Given the description of an element on the screen output the (x, y) to click on. 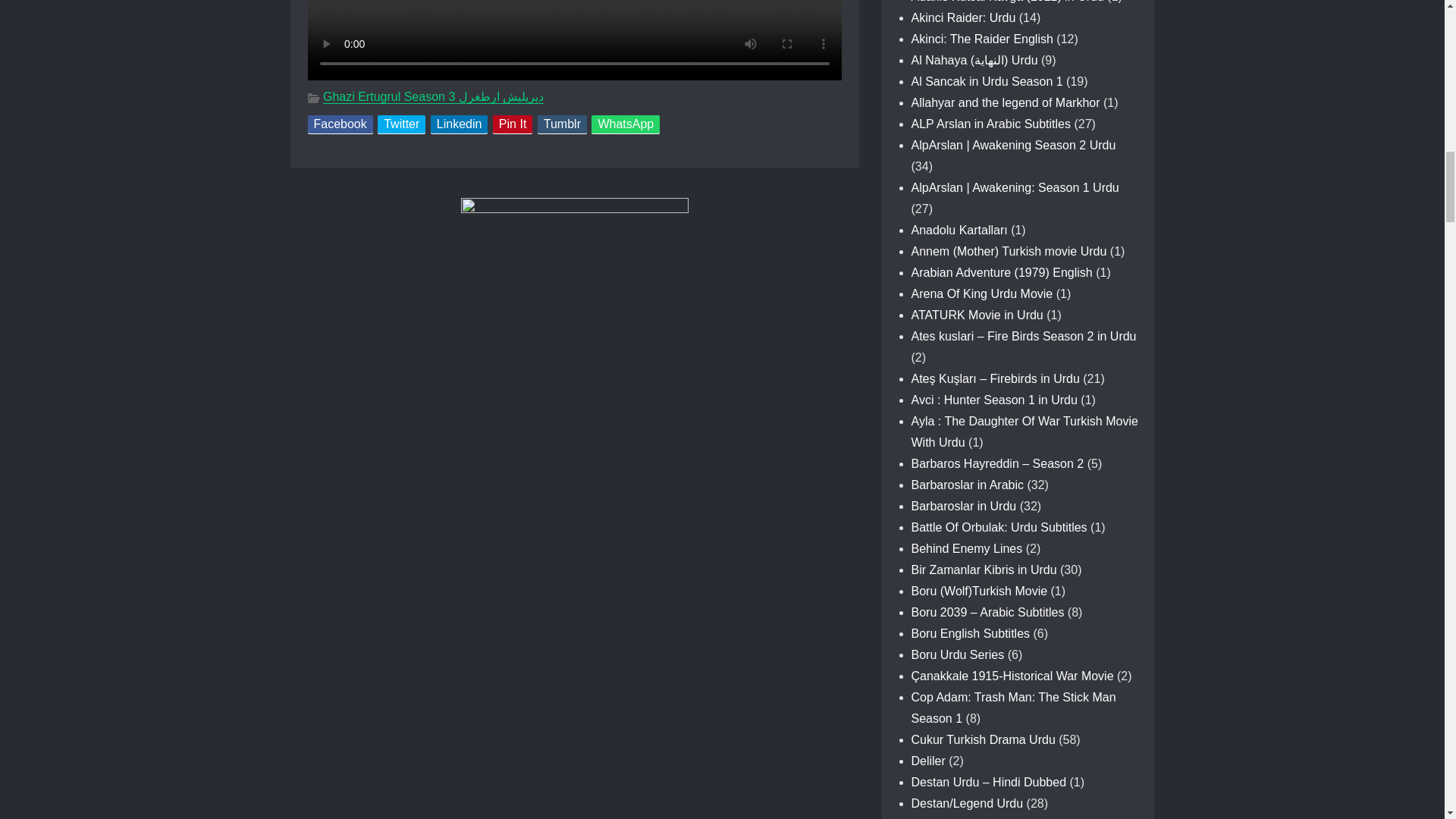
ALP Arslan in Arabic Subtitles (991, 123)
Tumblr (561, 124)
Linkedin (458, 124)
WhatsApp (625, 124)
Akinci: The Raider English (981, 38)
Facebook (339, 124)
Allahyar and the legend of Markhor (1005, 102)
Twitter (401, 124)
Akinci Raider: Urdu (963, 17)
Al Sancak in Urdu Season 1 (986, 81)
Pin It (512, 124)
